Given the description of an element on the screen output the (x, y) to click on. 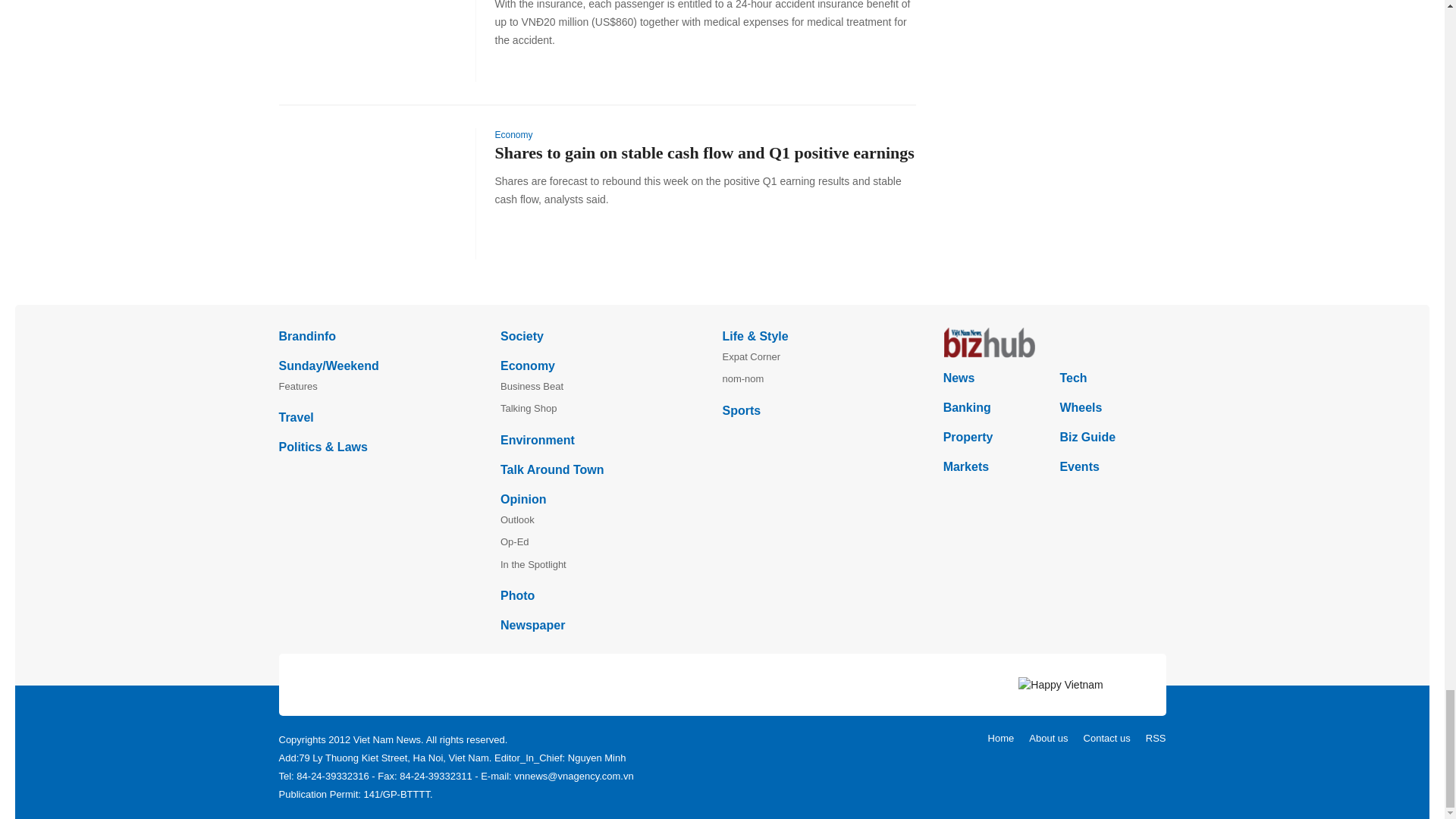
bizhub (1054, 342)
